Given the description of an element on the screen output the (x, y) to click on. 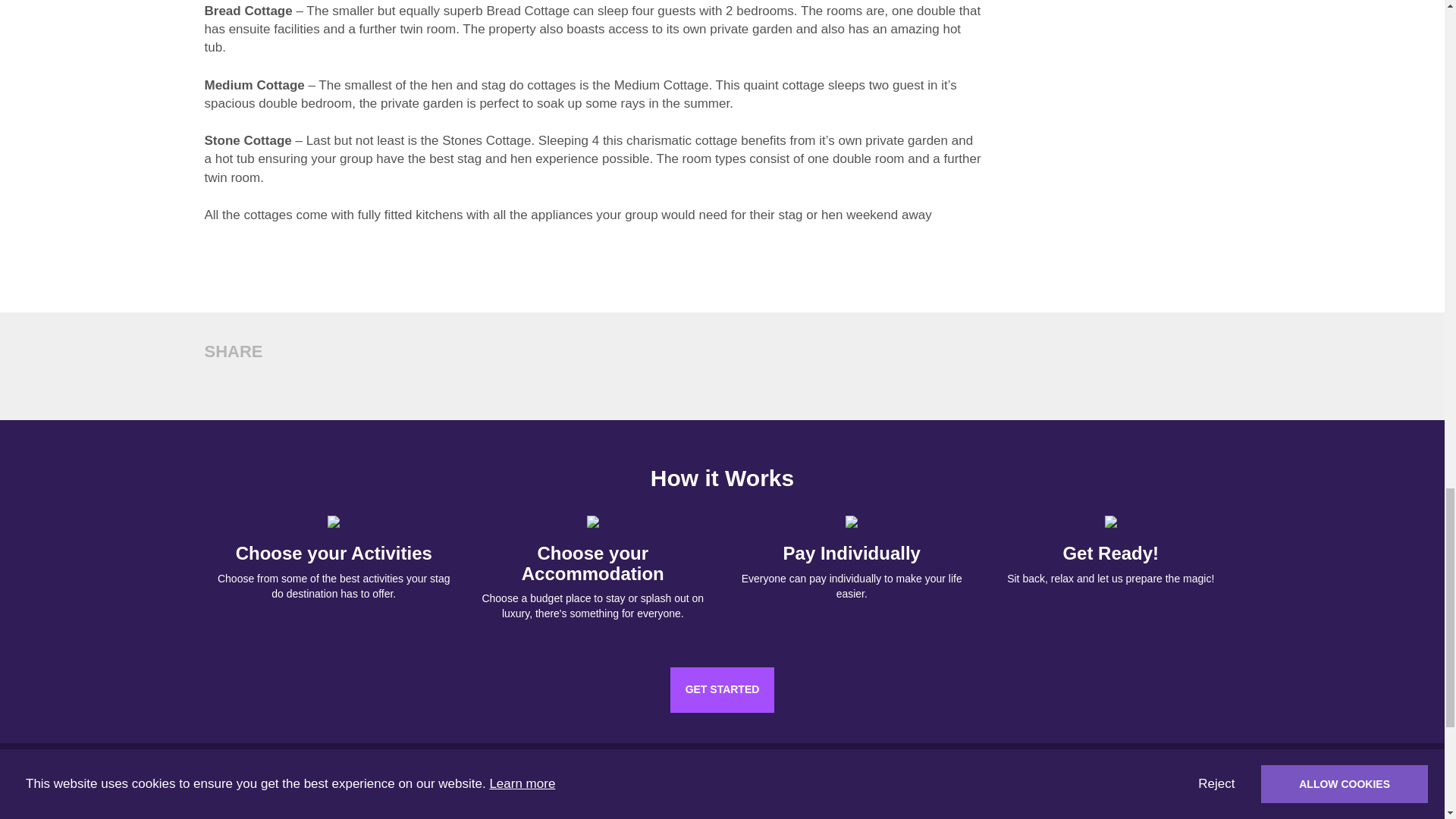
Share on Facebook (213, 380)
Share on Twitter (239, 380)
